Given the description of an element on the screen output the (x, y) to click on. 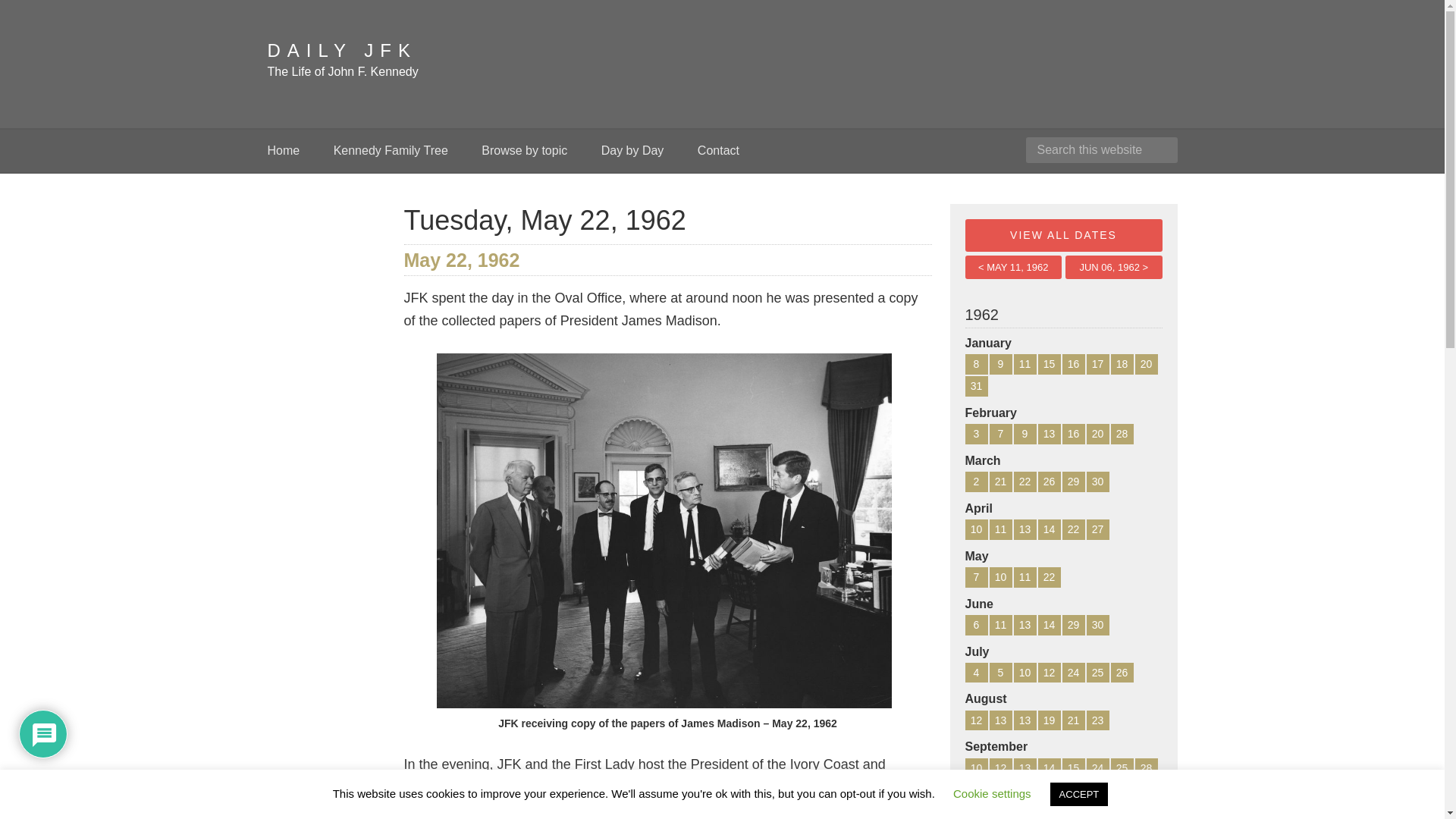
Advertisement (900, 60)
Kennedy Family Tree (390, 150)
Contact (718, 150)
Day by Day (632, 150)
Home (290, 150)
Browse by topic (523, 150)
DAILY JFK (341, 50)
